Given the description of an element on the screen output the (x, y) to click on. 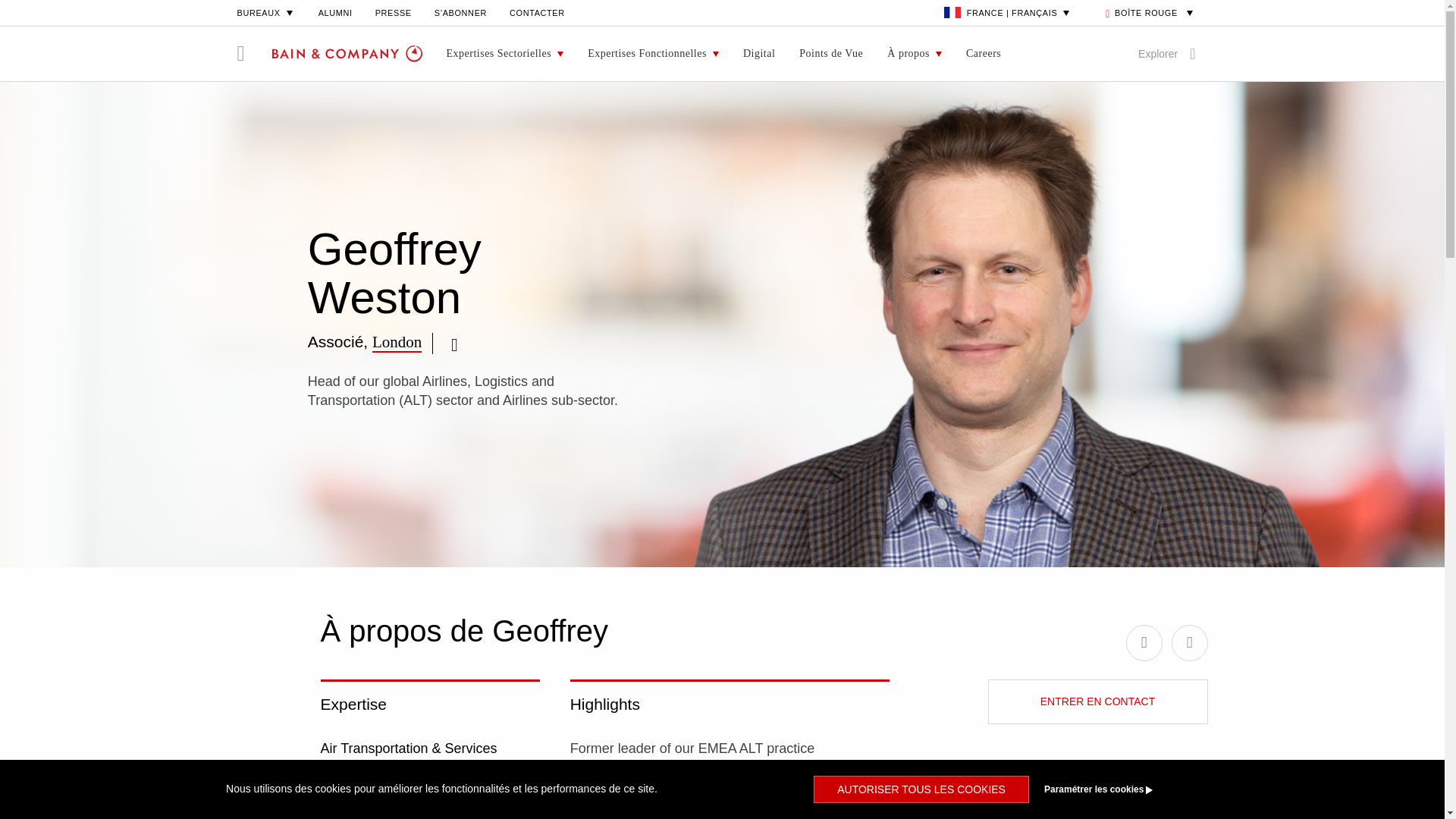
AUTORISER TOUS LES COOKIES (921, 789)
BUREAUX (265, 12)
